Given the description of an element on the screen output the (x, y) to click on. 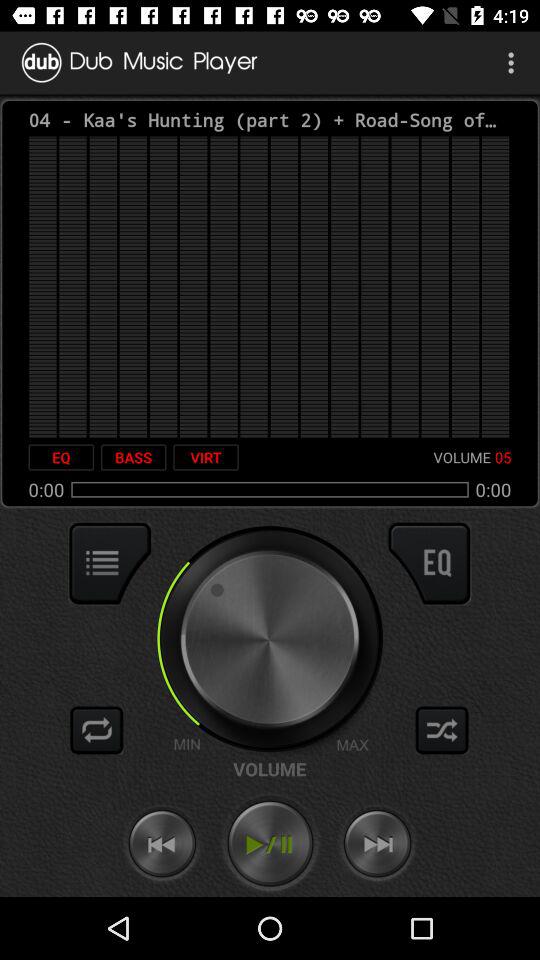
toggle repeat mode (97, 730)
